Given the description of an element on the screen output the (x, y) to click on. 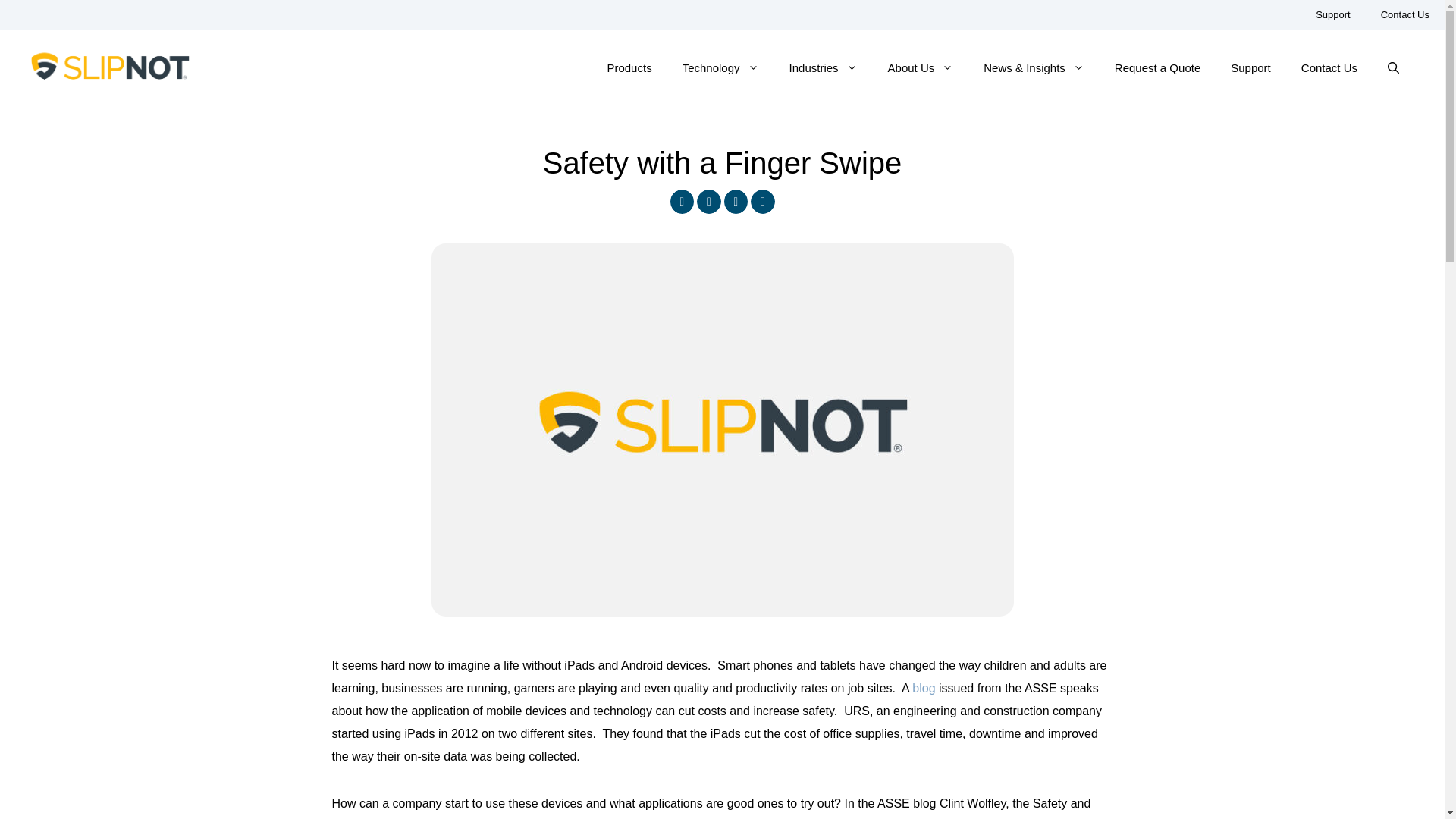
Support (1332, 15)
About Us (920, 67)
Products (628, 67)
Request a Quote (1157, 67)
blog (923, 687)
Contact Us (1329, 67)
Industries (823, 67)
Support (1250, 67)
ASSE Blog (923, 687)
Technology (720, 67)
